Given the description of an element on the screen output the (x, y) to click on. 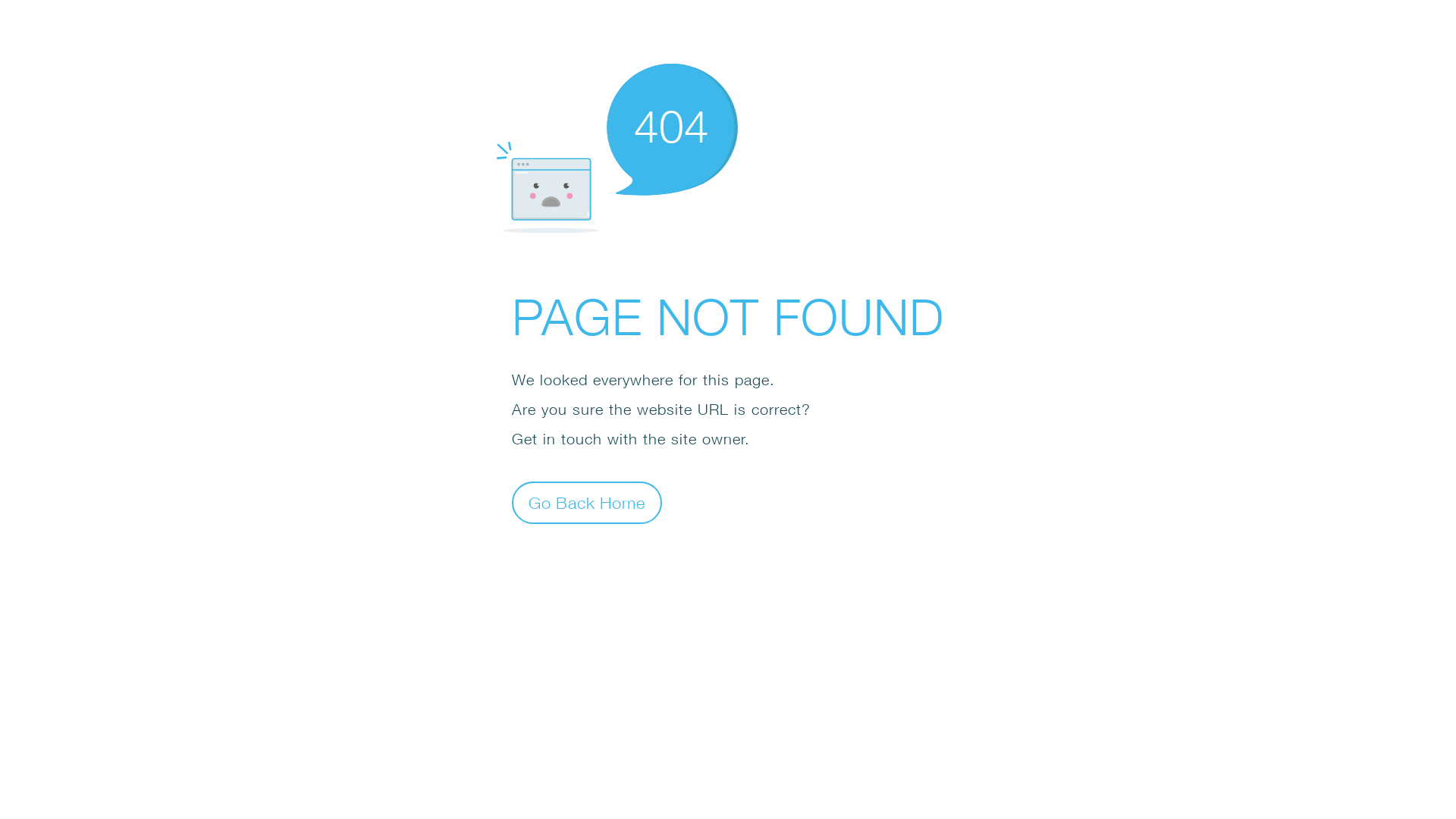
Go Back Home Element type: text (586, 502)
